Given the description of an element on the screen output the (x, y) to click on. 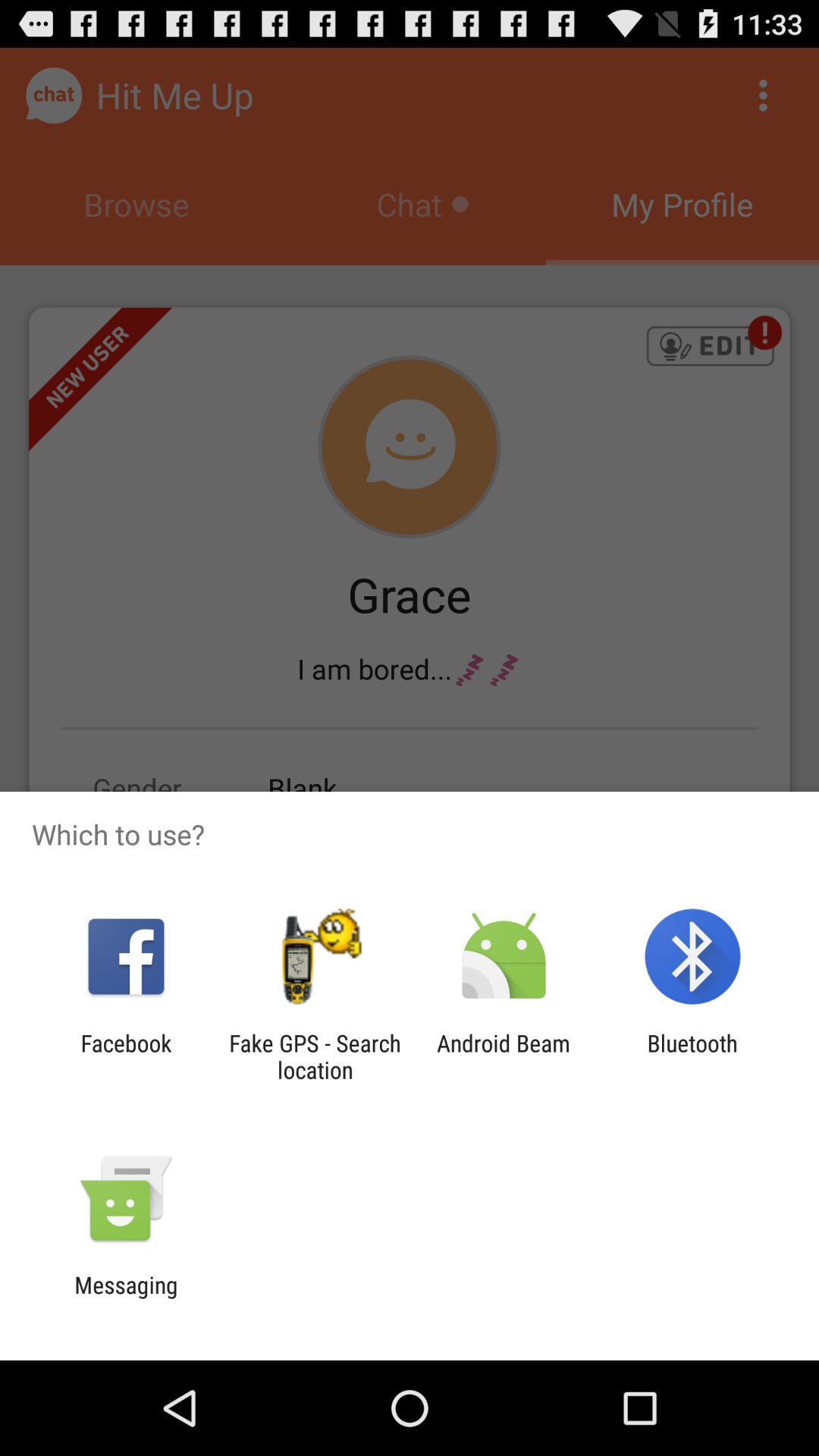
click app next to the fake gps search item (125, 1056)
